Given the description of an element on the screen output the (x, y) to click on. 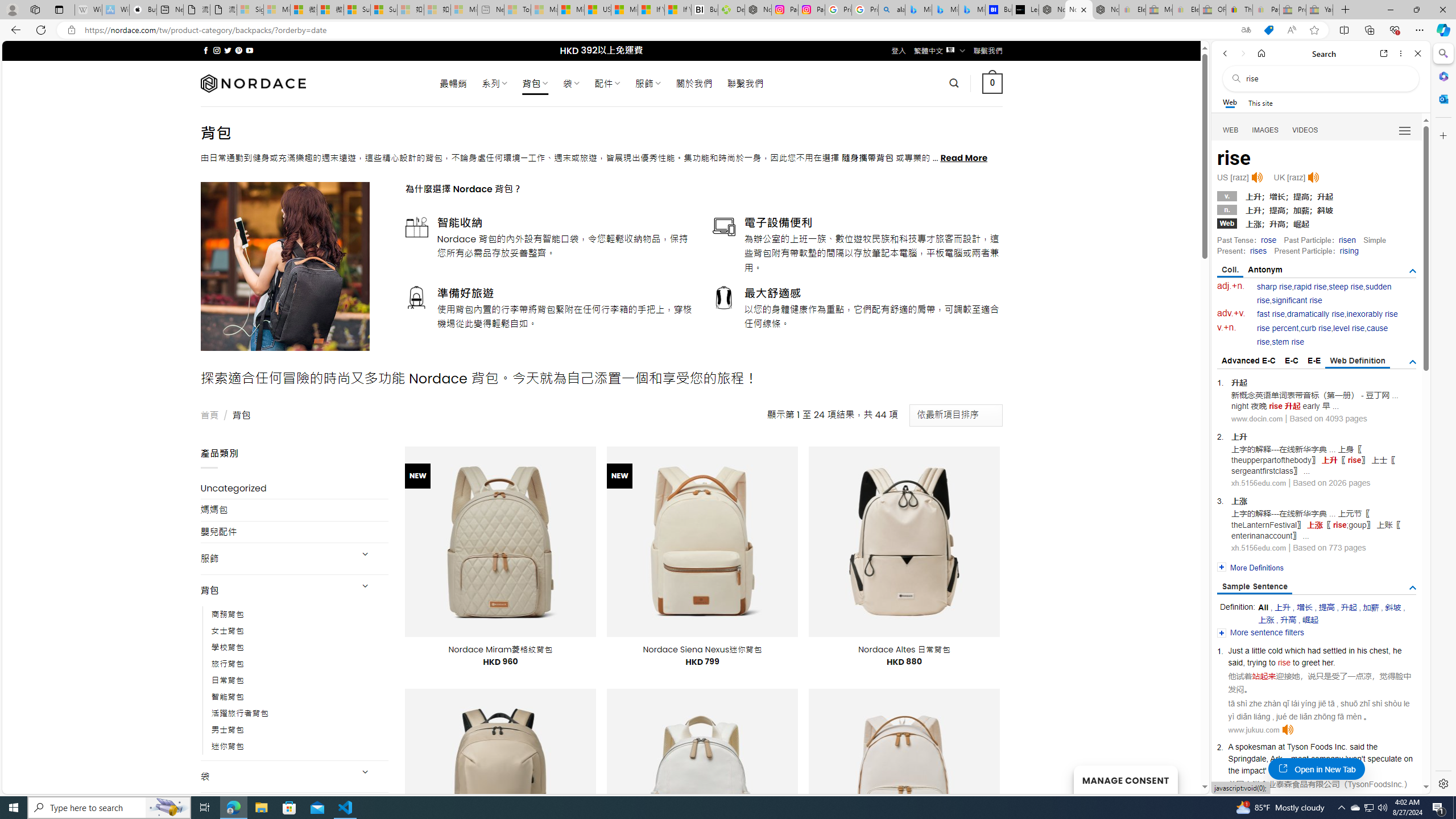
a little (1255, 650)
impact (1252, 770)
This site has coupons! Shopping in Microsoft Edge (1268, 29)
Payments Terms of Use | eBay.com - Sleeping (1265, 9)
Uncategorized (294, 488)
' (1345, 758)
xh.5156edu.com (1259, 547)
